Given the description of an element on the screen output the (x, y) to click on. 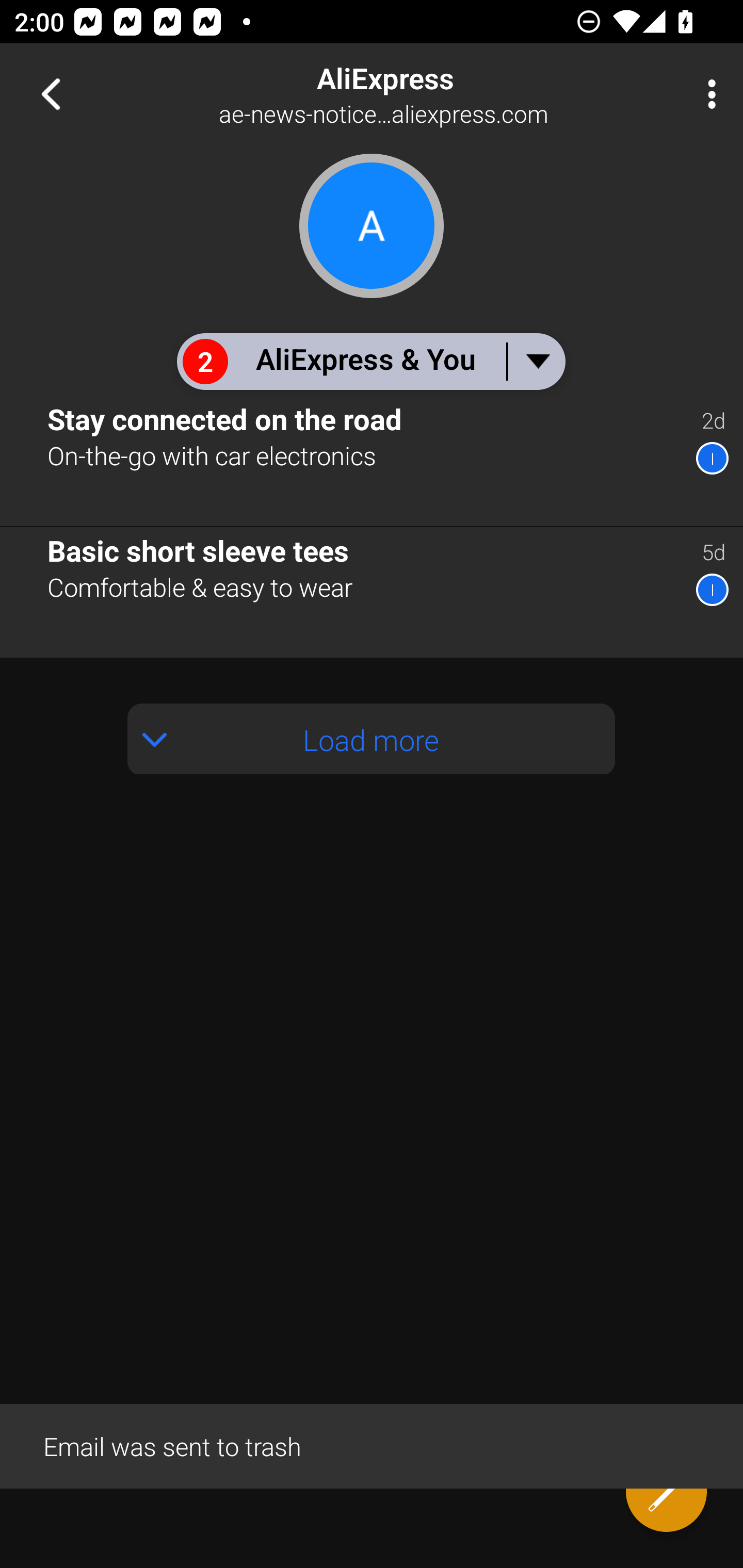
Navigate up (50, 93)
AliExpress ae-news-notice03@mail.aliexpress.com (436, 93)
More Options (706, 93)
2 AliExpress & You (370, 361)
Load more (371, 739)
Email was sent to trash (371, 1445)
